Given the description of an element on the screen output the (x, y) to click on. 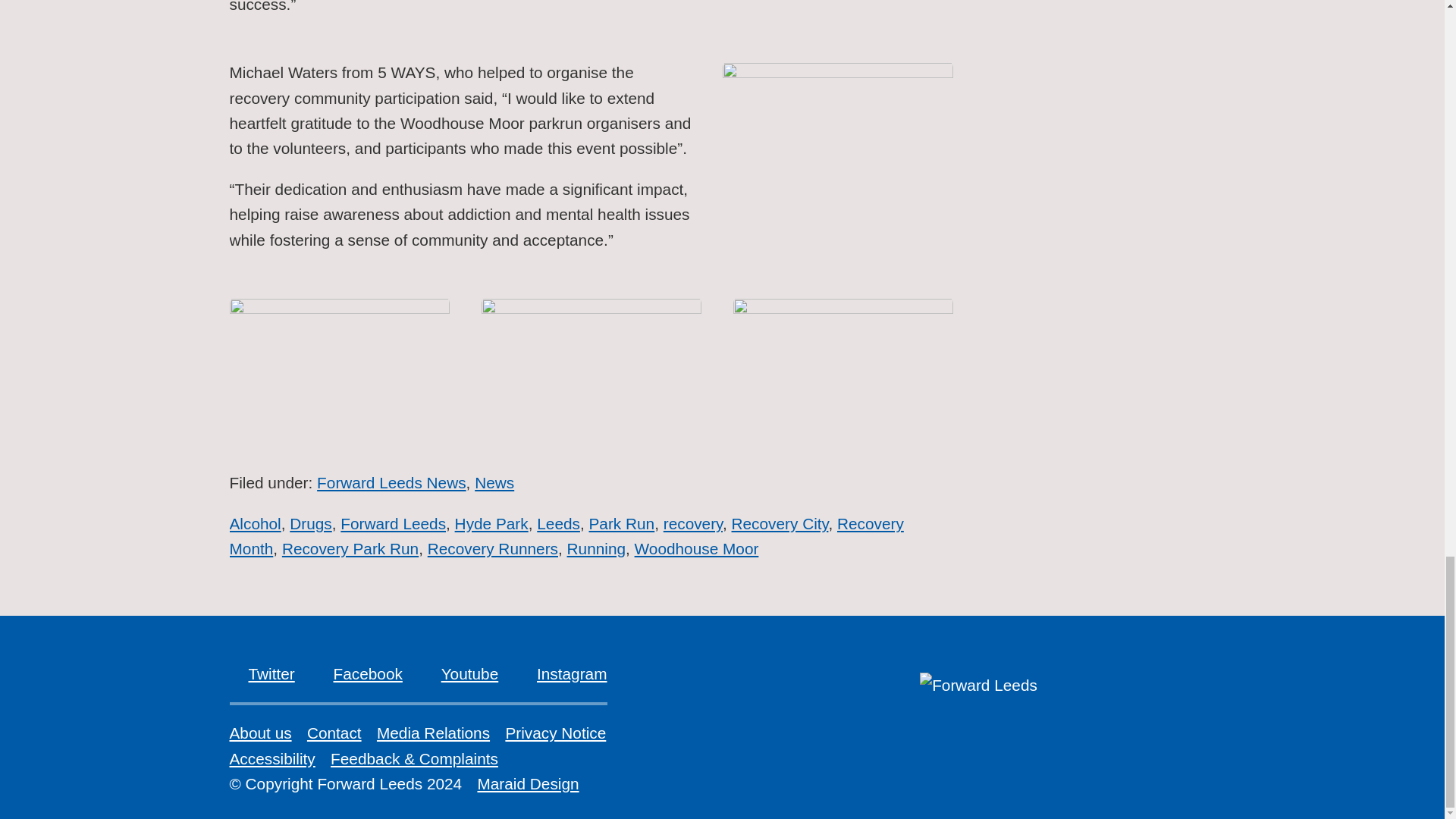
Drugs (310, 524)
Forward Leeds (392, 523)
Woodhouse Moor (696, 548)
Forward Leeds News (391, 483)
Recovery Runners (492, 548)
Recovery City (780, 523)
Hyde Park (491, 523)
Leeds (558, 523)
Park Run (620, 523)
recovery (692, 523)
